Given the description of an element on the screen output the (x, y) to click on. 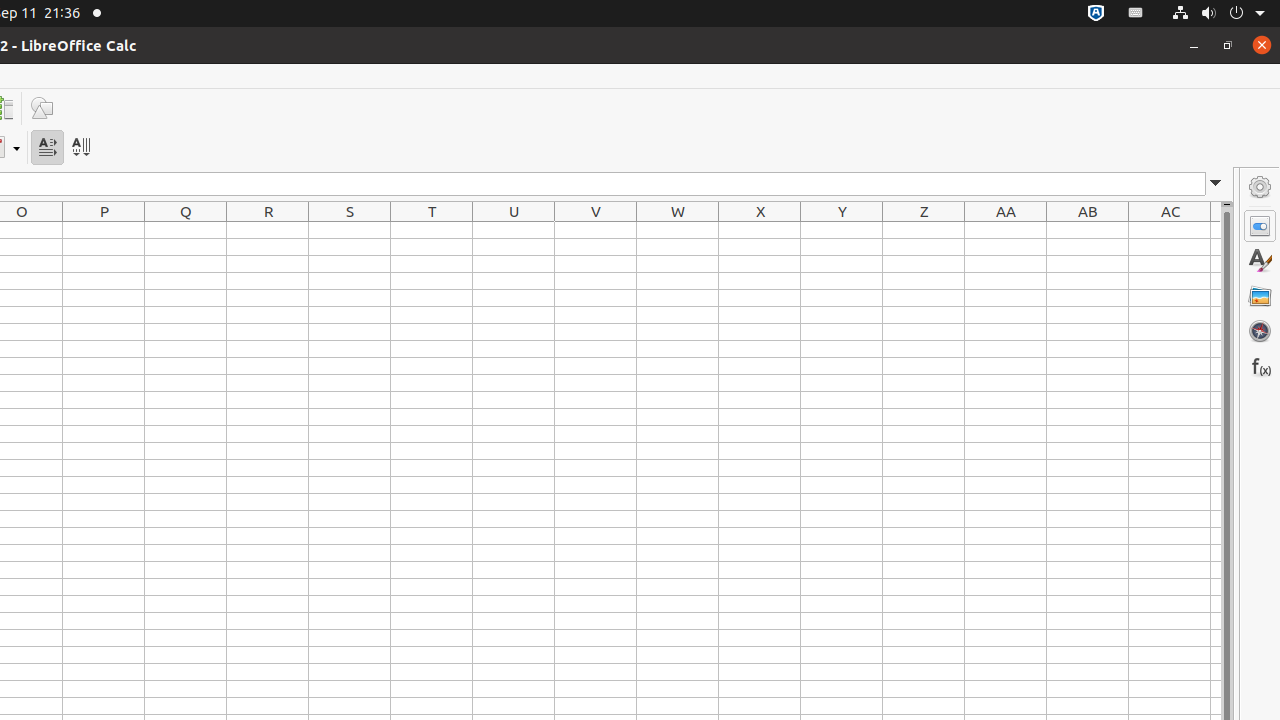
Text direction from top to bottom Element type: toggle-button (80, 147)
Draw Functions Element type: toggle-button (41, 108)
Z1 Element type: table-cell (924, 230)
S1 Element type: table-cell (350, 230)
